Given the description of an element on the screen output the (x, y) to click on. 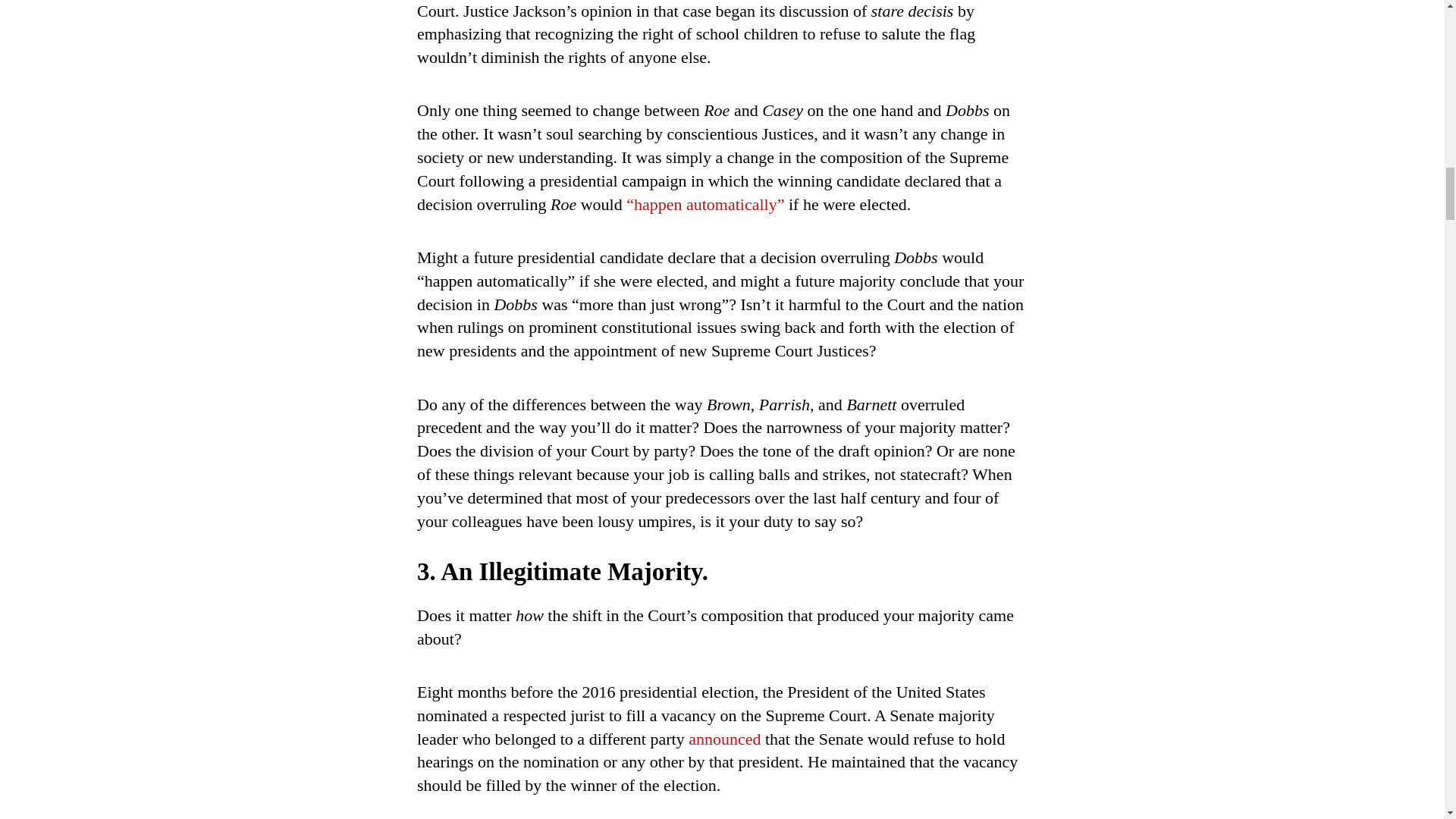
announced (724, 738)
